Given the description of an element on the screen output the (x, y) to click on. 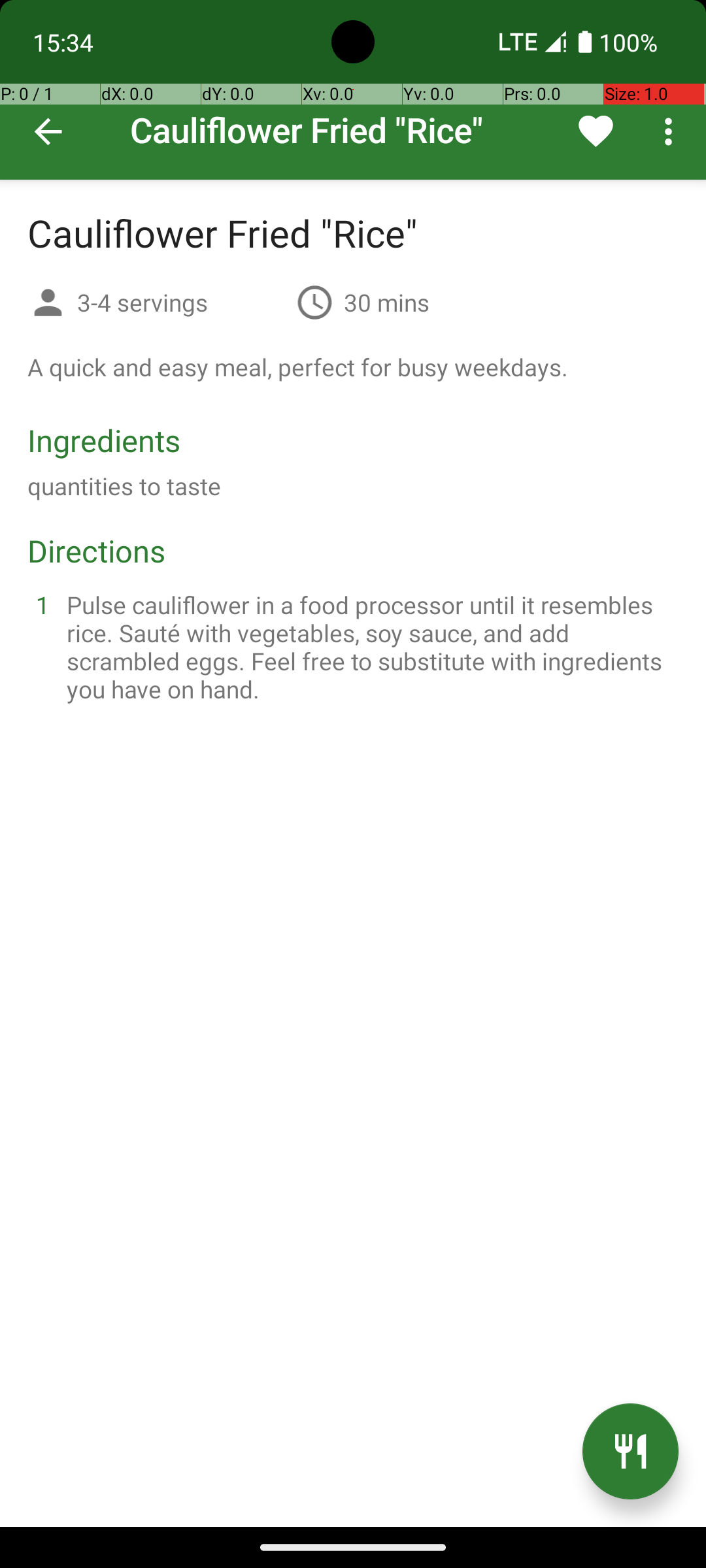
Pulse cauliflower in a food processor until it resembles rice. Sauté with vegetables, soy sauce, and add scrambled eggs. Feel free to substitute with ingredients you have on hand. Element type: android.widget.TextView (368, 646)
